Given the description of an element on the screen output the (x, y) to click on. 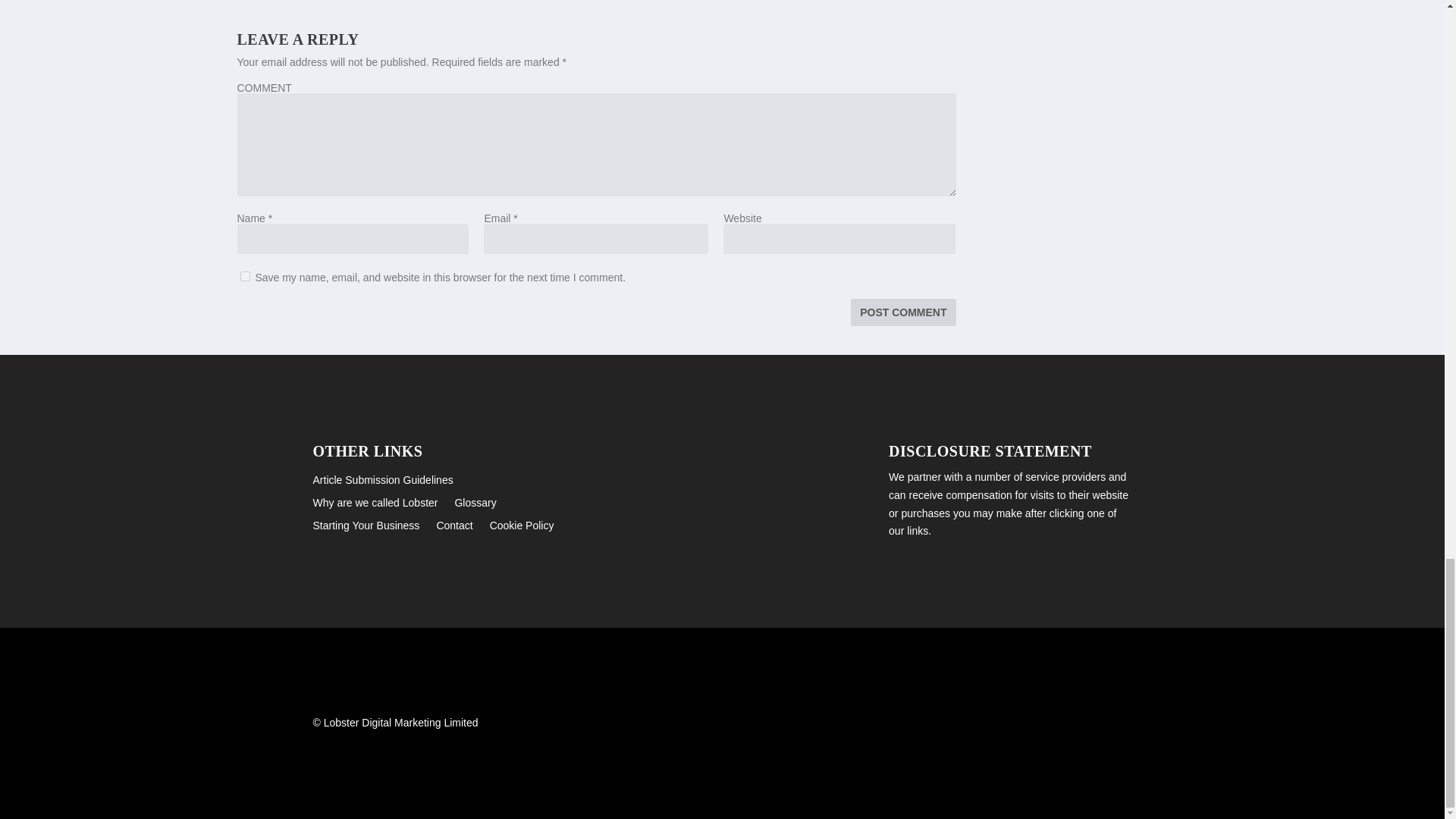
yes (244, 276)
Post Comment (902, 311)
